Given the description of an element on the screen output the (x, y) to click on. 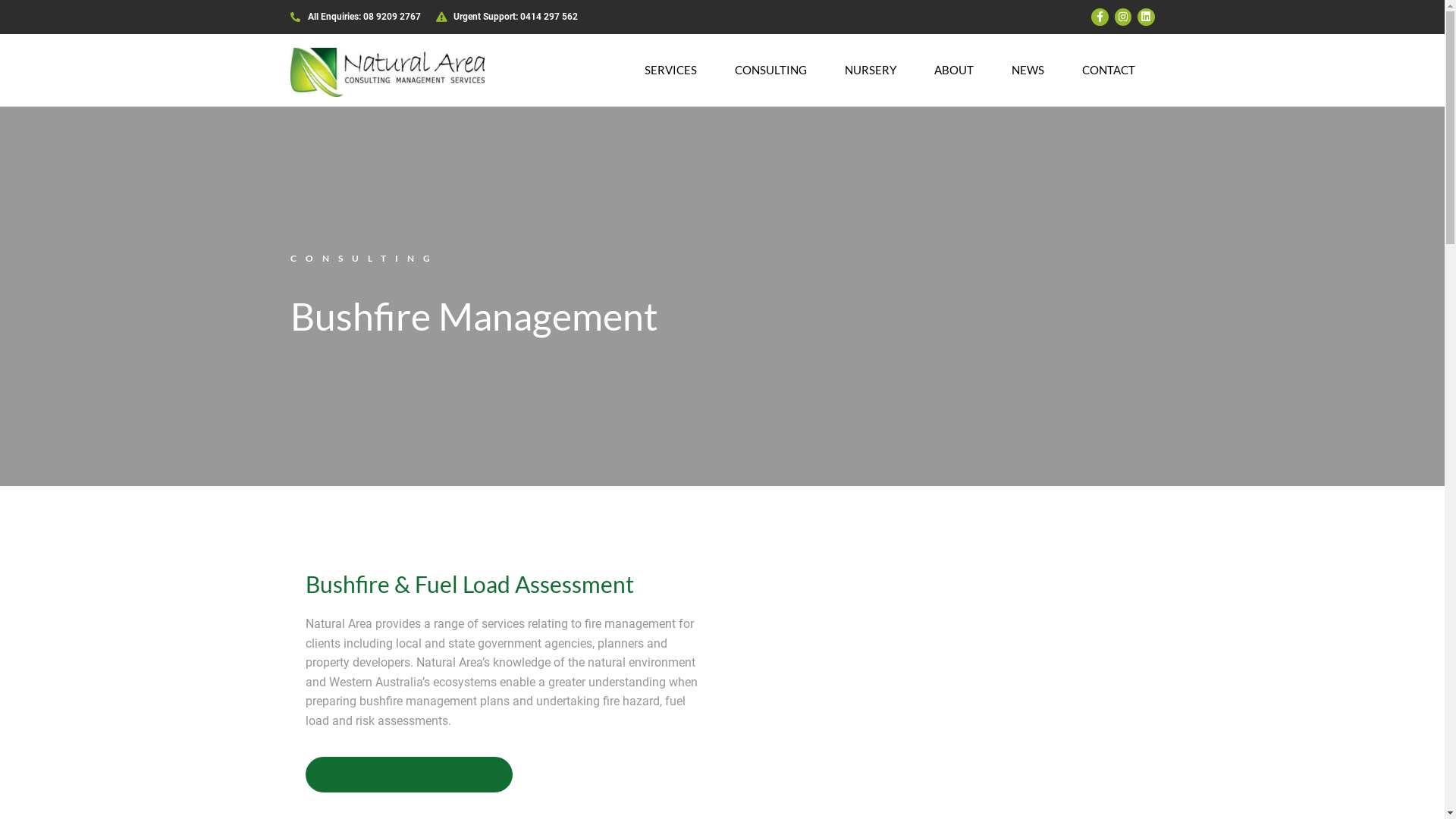
NURSERY Element type: text (870, 70)
ABOUT Element type: text (953, 70)
CONSULTING Element type: text (770, 70)
CAPABILITY STATEMENT Element type: text (407, 774)
NEWS Element type: text (1027, 70)
SERVICES Element type: text (670, 70)
Urgent Support: 0414 297 562 Element type: text (506, 17)
CONTACT Element type: text (1108, 70)
All Enquiries: 08 9209 2767 Element type: text (354, 17)
